Given the description of an element on the screen output the (x, y) to click on. 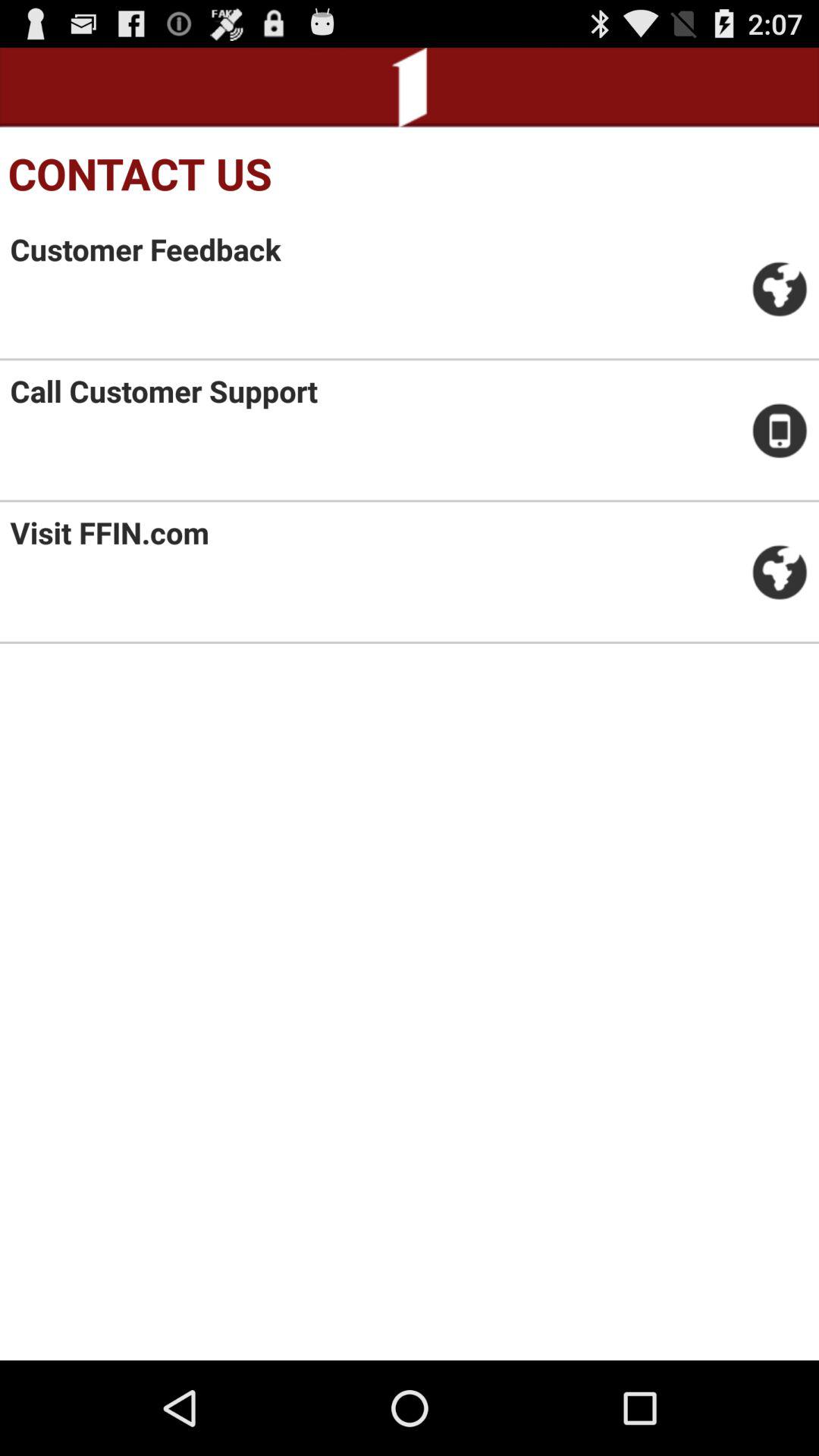
swipe to call customer support (163, 390)
